Given the description of an element on the screen output the (x, y) to click on. 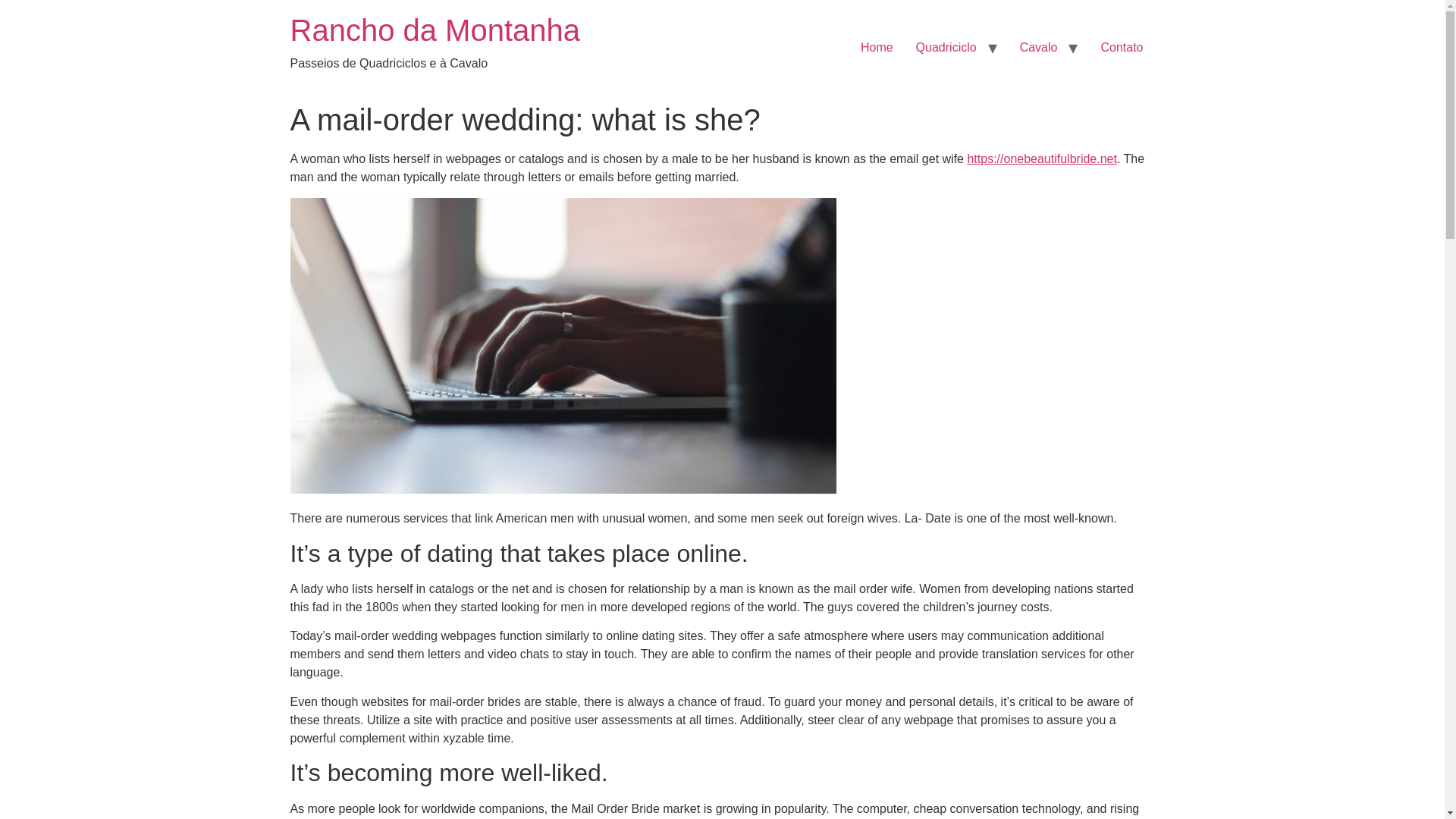
Rancho da Montanha (434, 29)
Home (876, 47)
Quadriciclo (946, 47)
Contato (1121, 47)
Cavalo (1038, 47)
